Given the description of an element on the screen output the (x, y) to click on. 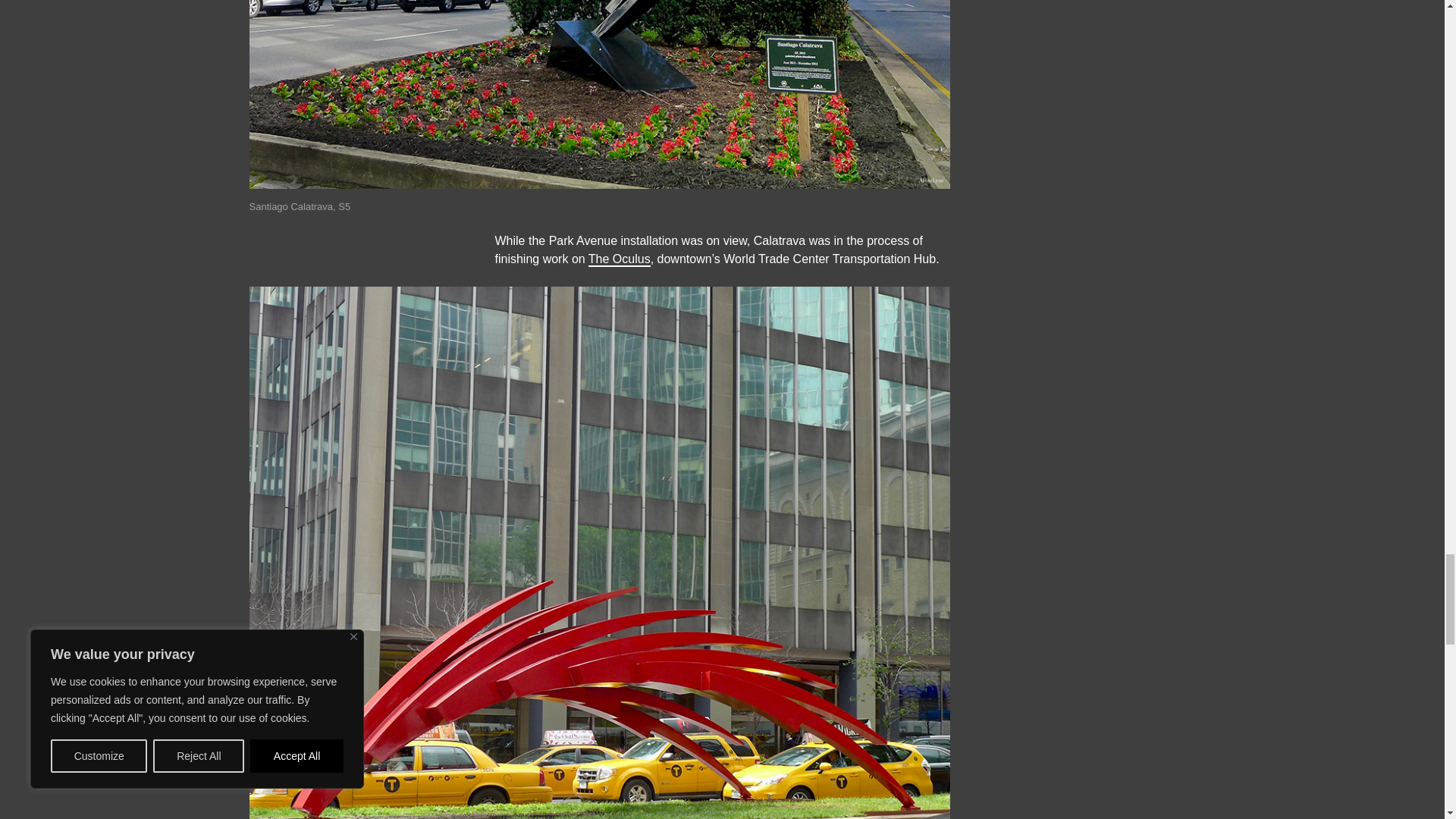
The Oculus (619, 258)
